Given the description of an element on the screen output the (x, y) to click on. 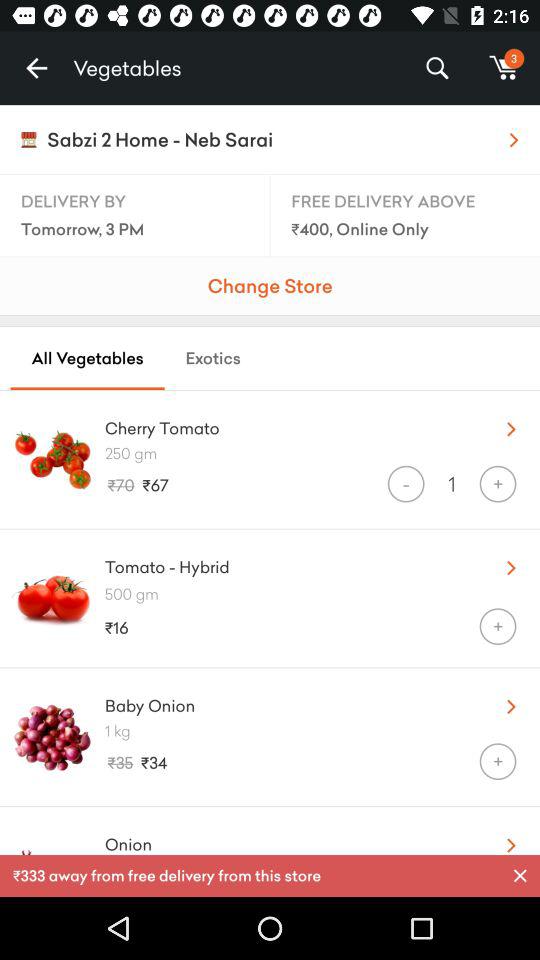
turn off the item below 250 gm icon (405, 483)
